Given the description of an element on the screen output the (x, y) to click on. 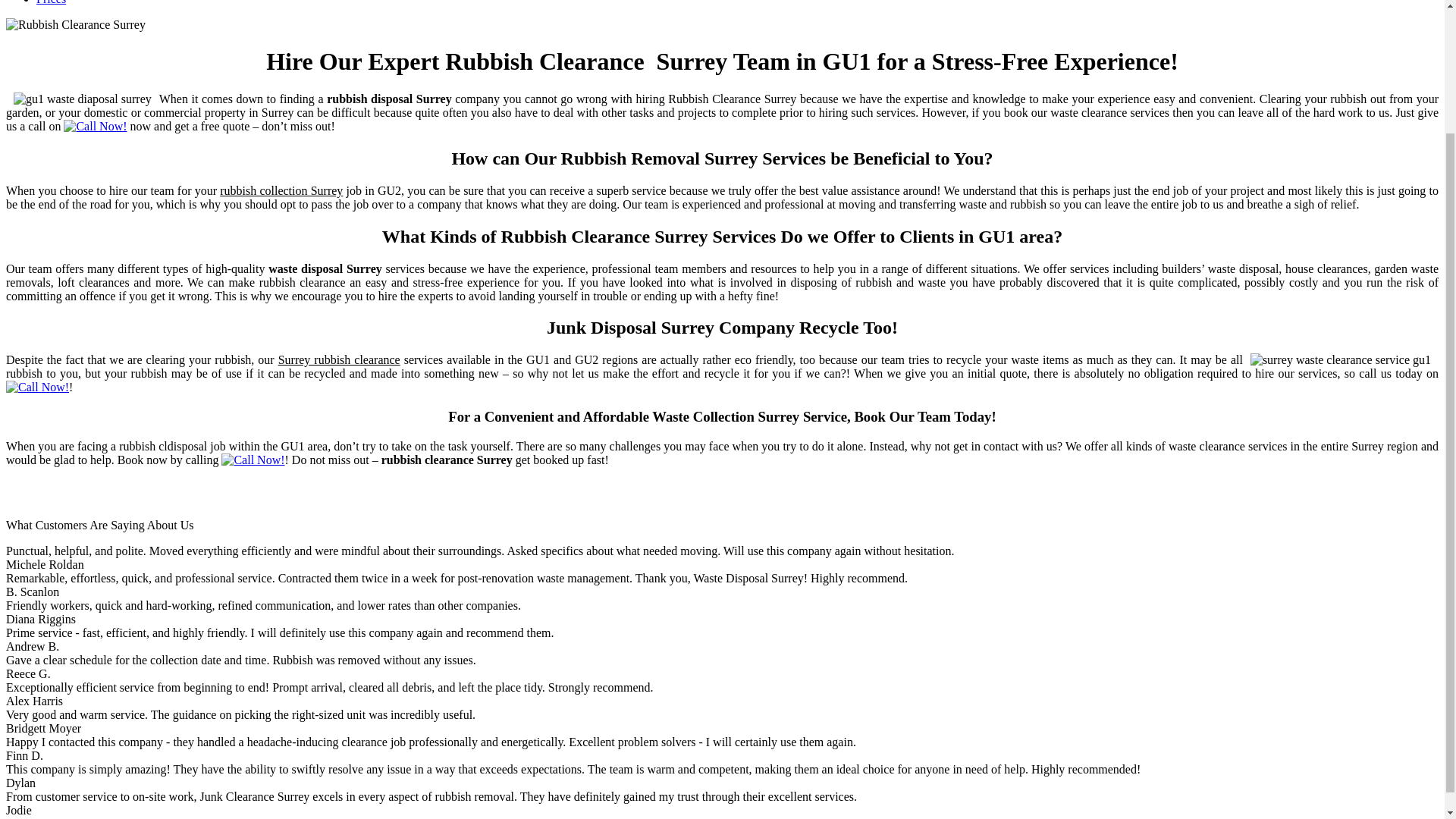
Rubbish Clearance Surrey (75, 24)
Call Now! (36, 386)
Call Now! (95, 125)
Call Now! (252, 459)
Prices (50, 2)
